Given the description of an element on the screen output the (x, y) to click on. 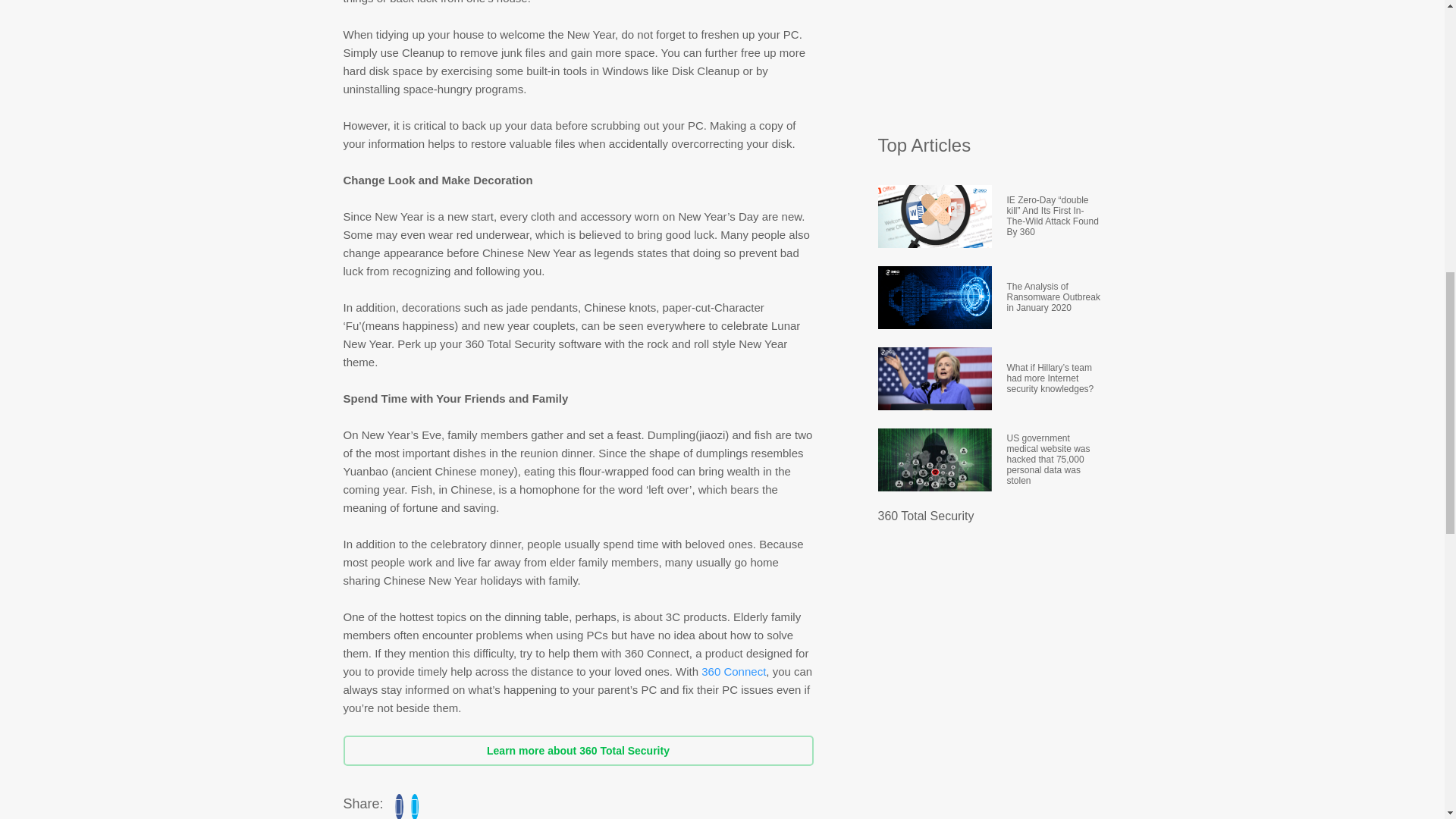
The Analysis of Ransomware Outbreak in January 2020 (1054, 296)
360 Connect (733, 671)
Learn more about 360 Total Security (577, 750)
Learn more about 360 Total Security (577, 750)
Advertisement (991, 58)
The Analysis of Ransomware Outbreak in January 2020 (1054, 296)
360 Total Security (925, 515)
